Given the description of an element on the screen output the (x, y) to click on. 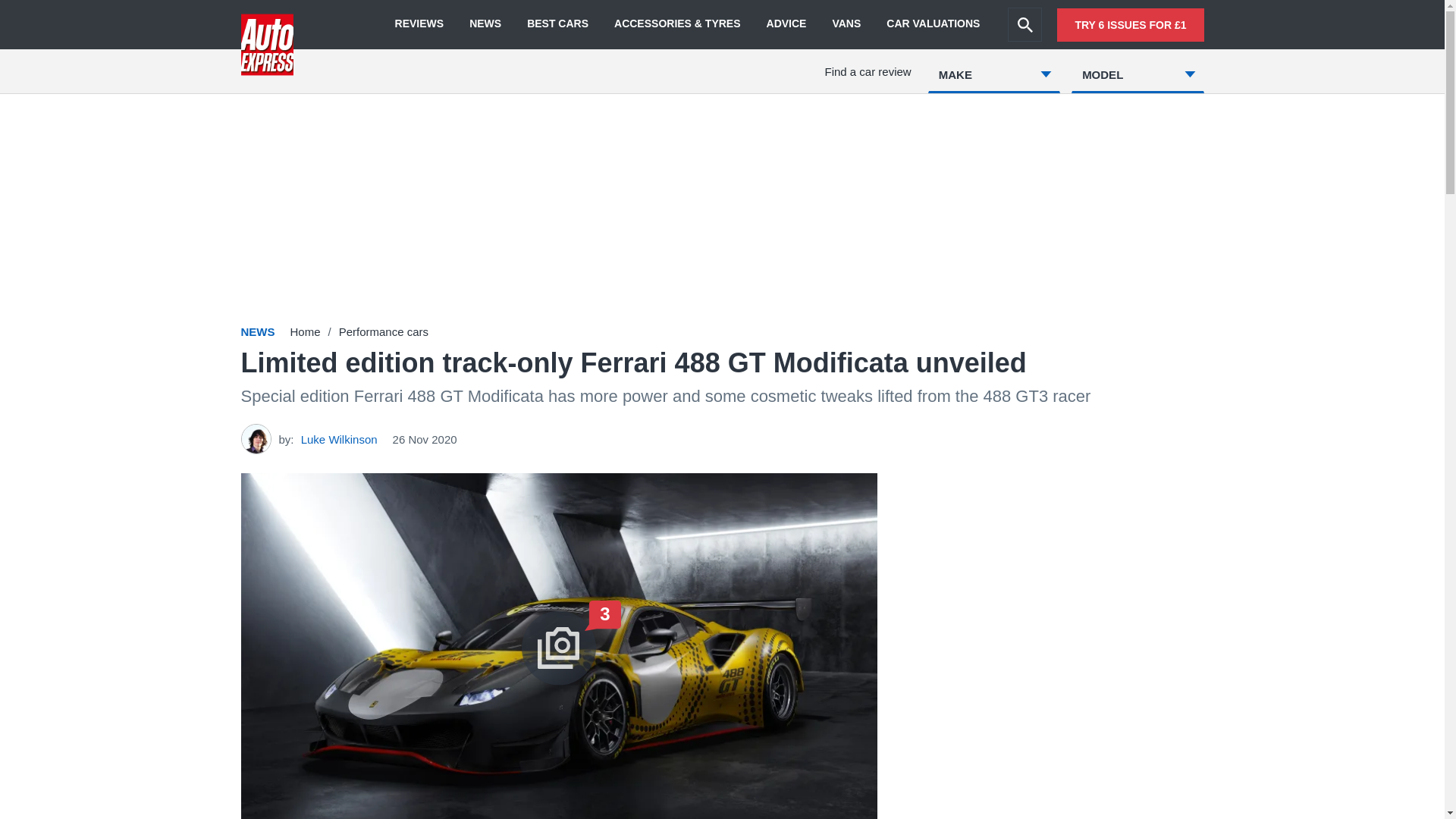
Search (1024, 24)
Search (1024, 24)
REVIEWS (419, 24)
BEST CARS (557, 24)
NEWS (485, 24)
CAR VALUATIONS (932, 24)
VANS (845, 24)
ADVICE (786, 24)
